Given the description of an element on the screen output the (x, y) to click on. 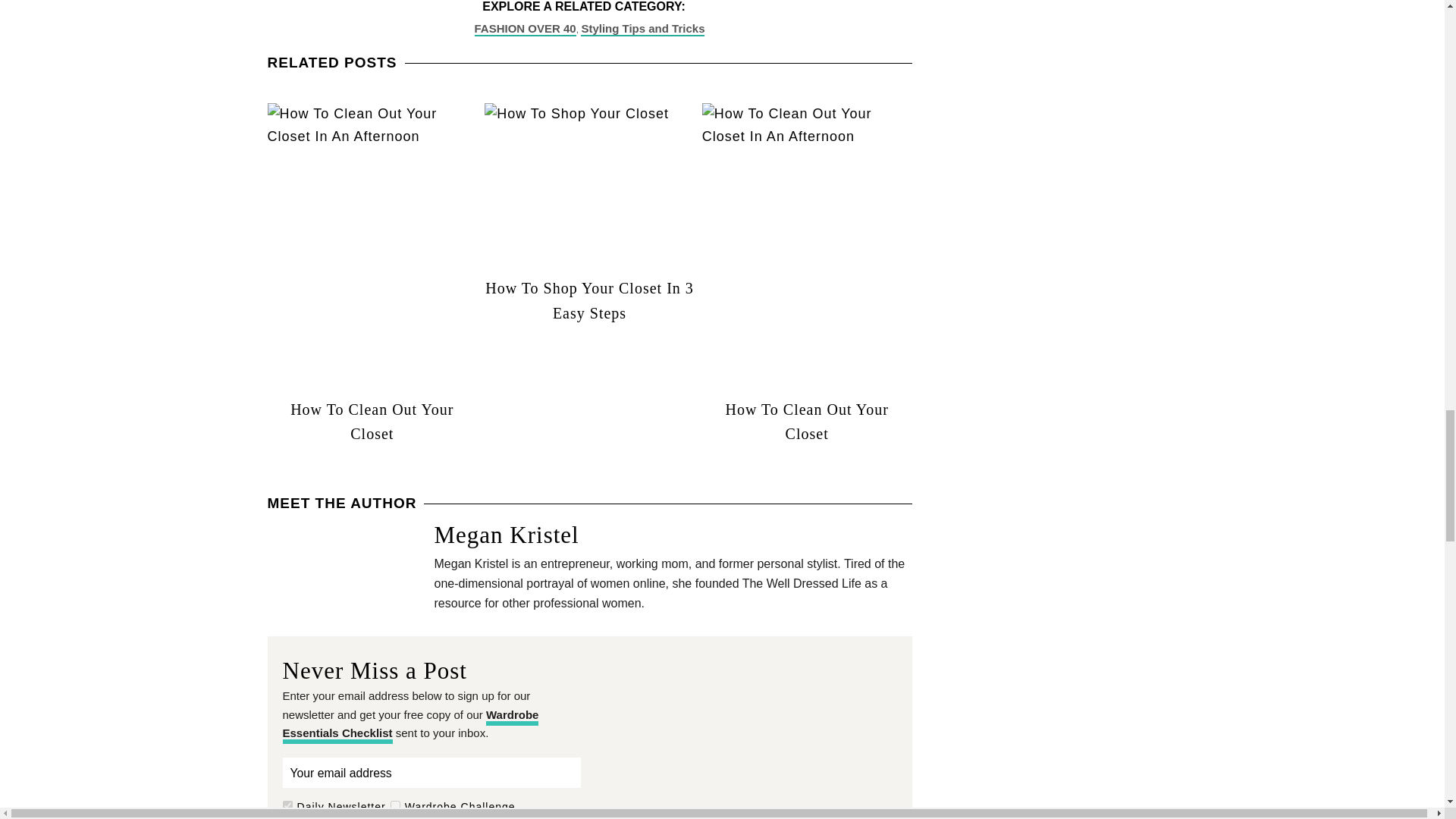
FASHION OVER 40 (525, 29)
603d70c014 (287, 805)
1dc51eb203 (395, 805)
Styling Tips and Tricks (642, 29)
